Given the description of an element on the screen output the (x, y) to click on. 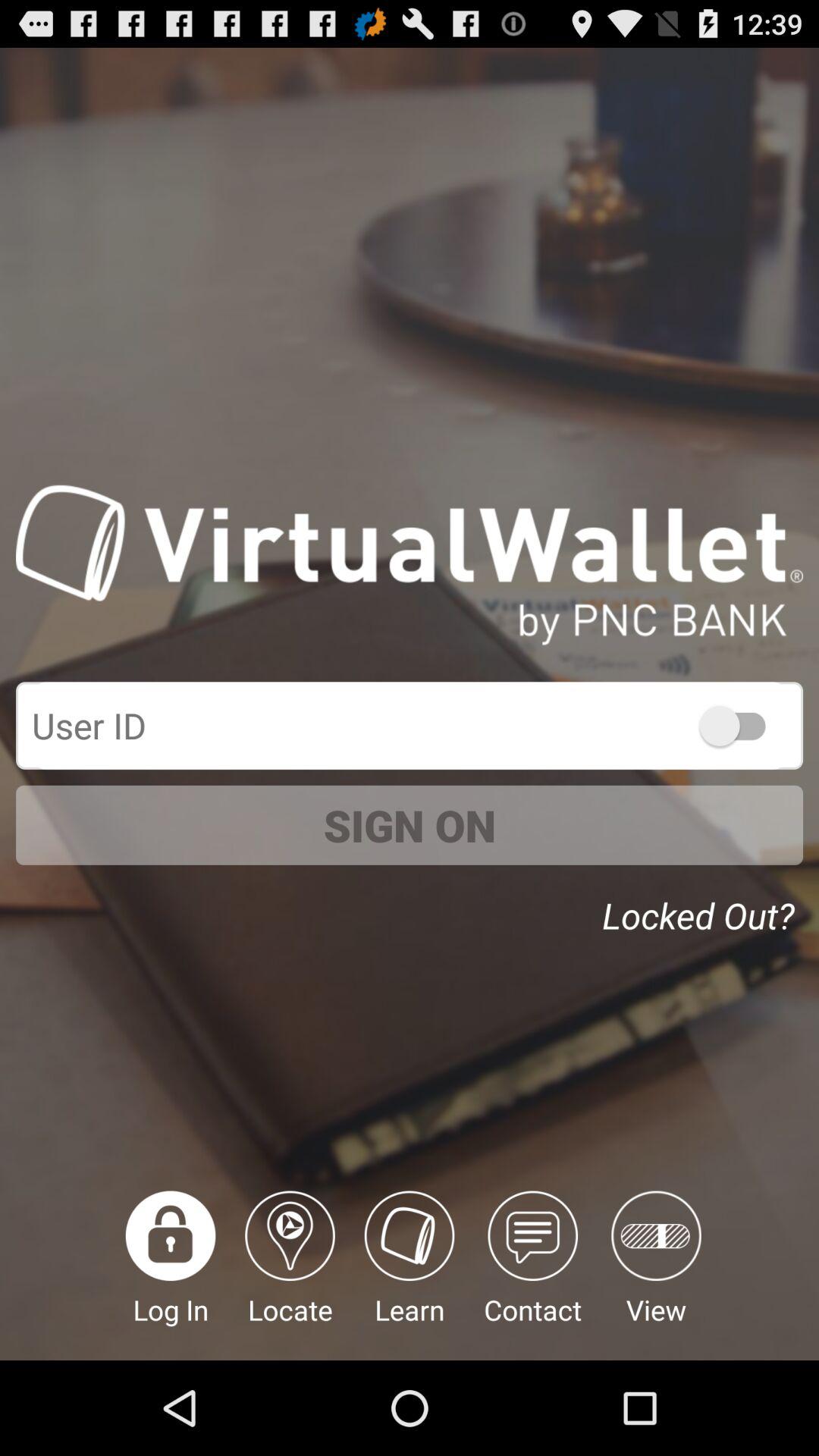
swipe to learn (409, 1275)
